Given the description of an element on the screen output the (x, y) to click on. 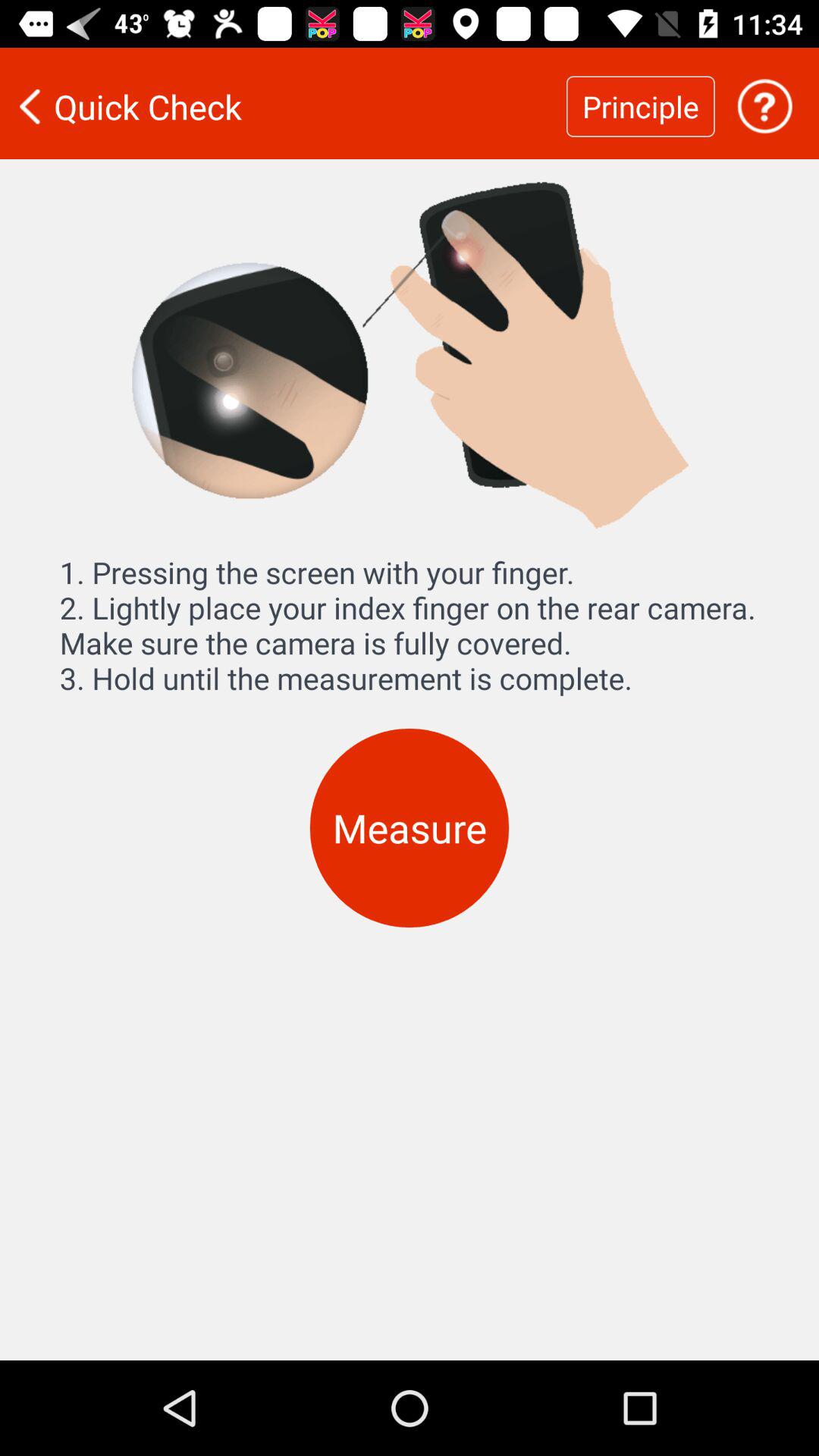
tap item next to the principle icon (764, 106)
